Given the description of an element on the screen output the (x, y) to click on. 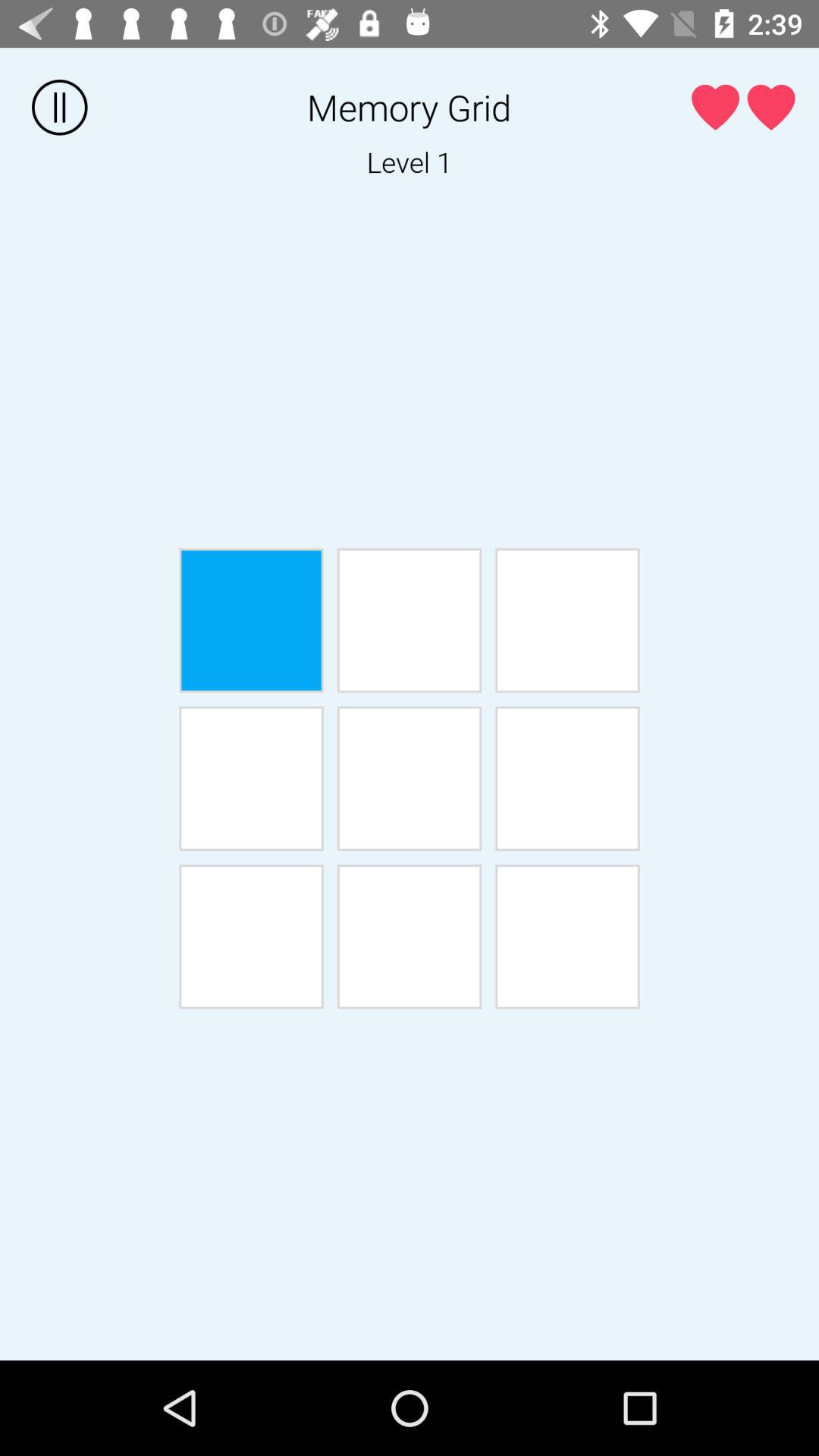
turn on the item below the level 1 item (409, 620)
